Given the description of an element on the screen output the (x, y) to click on. 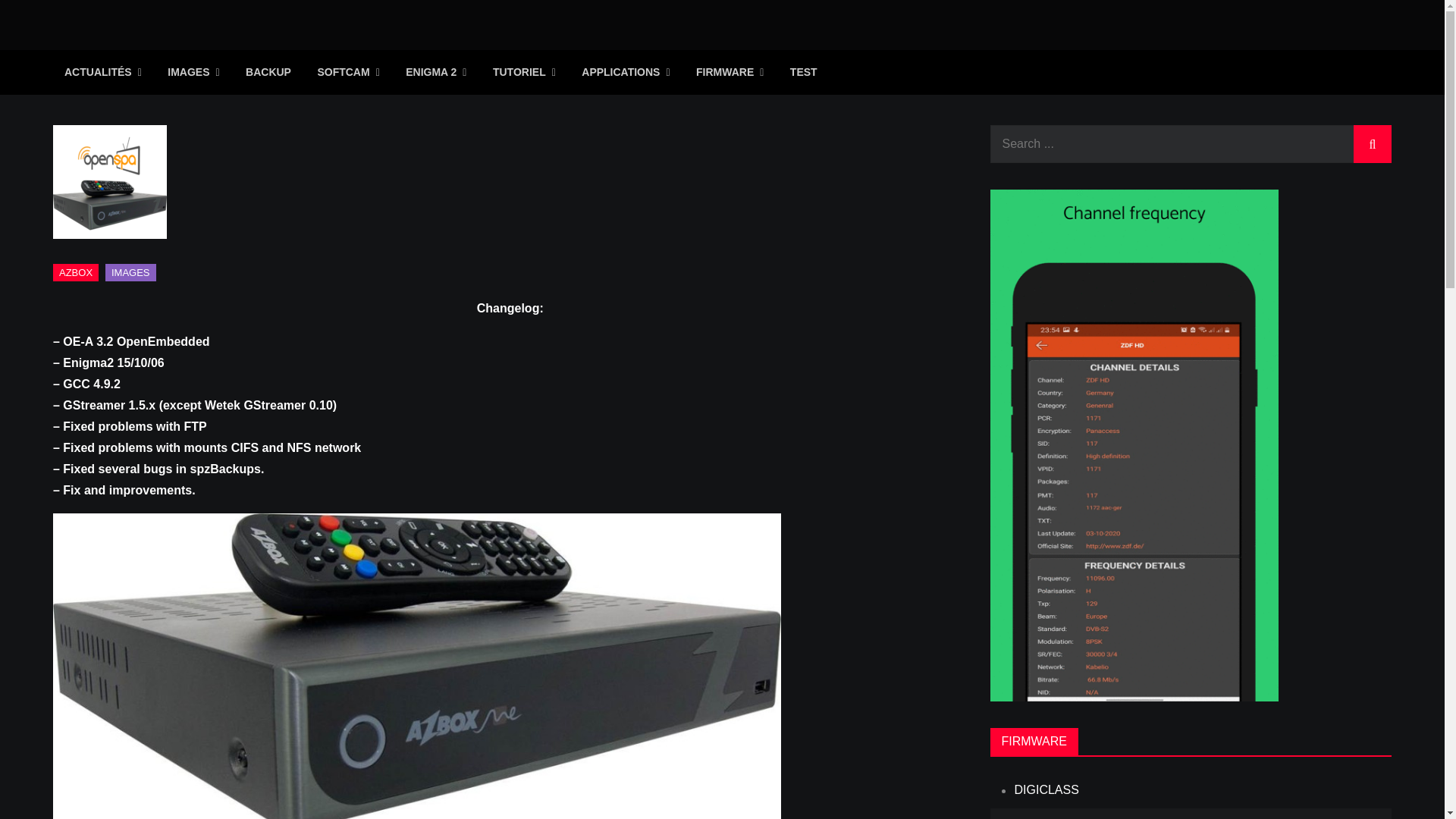
ENIGMA 2 (435, 72)
SOFTCAM (347, 72)
IMAGES (192, 72)
Search for: (1190, 143)
BACKUP (268, 71)
